Given the description of an element on the screen output the (x, y) to click on. 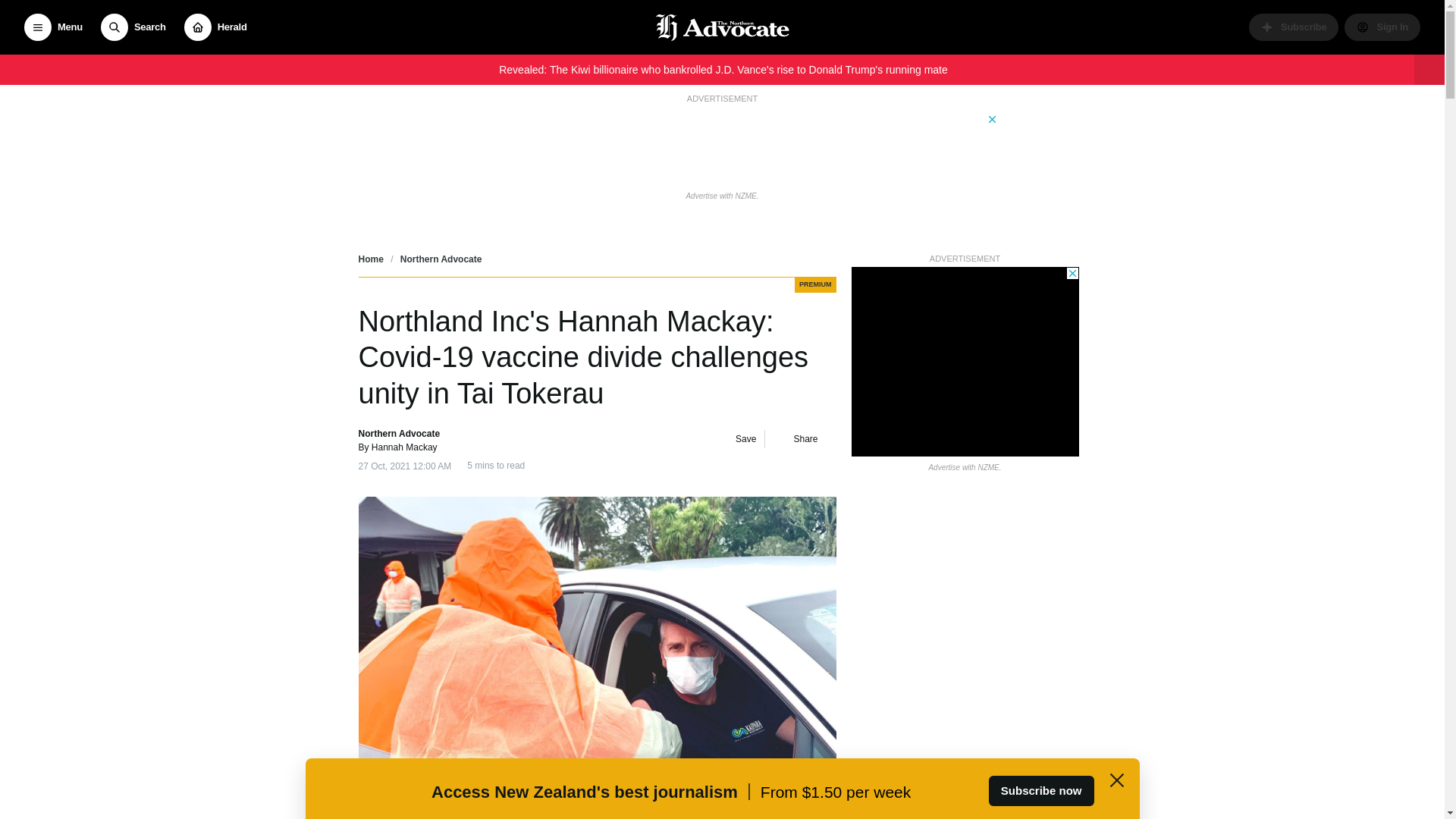
Subscribe (1294, 26)
Menu (53, 26)
Manage your account (1382, 26)
Herald (215, 26)
3rd party ad content (721, 146)
Sign In (1382, 26)
3rd party ad content (964, 361)
Search (132, 26)
